Given the description of an element on the screen output the (x, y) to click on. 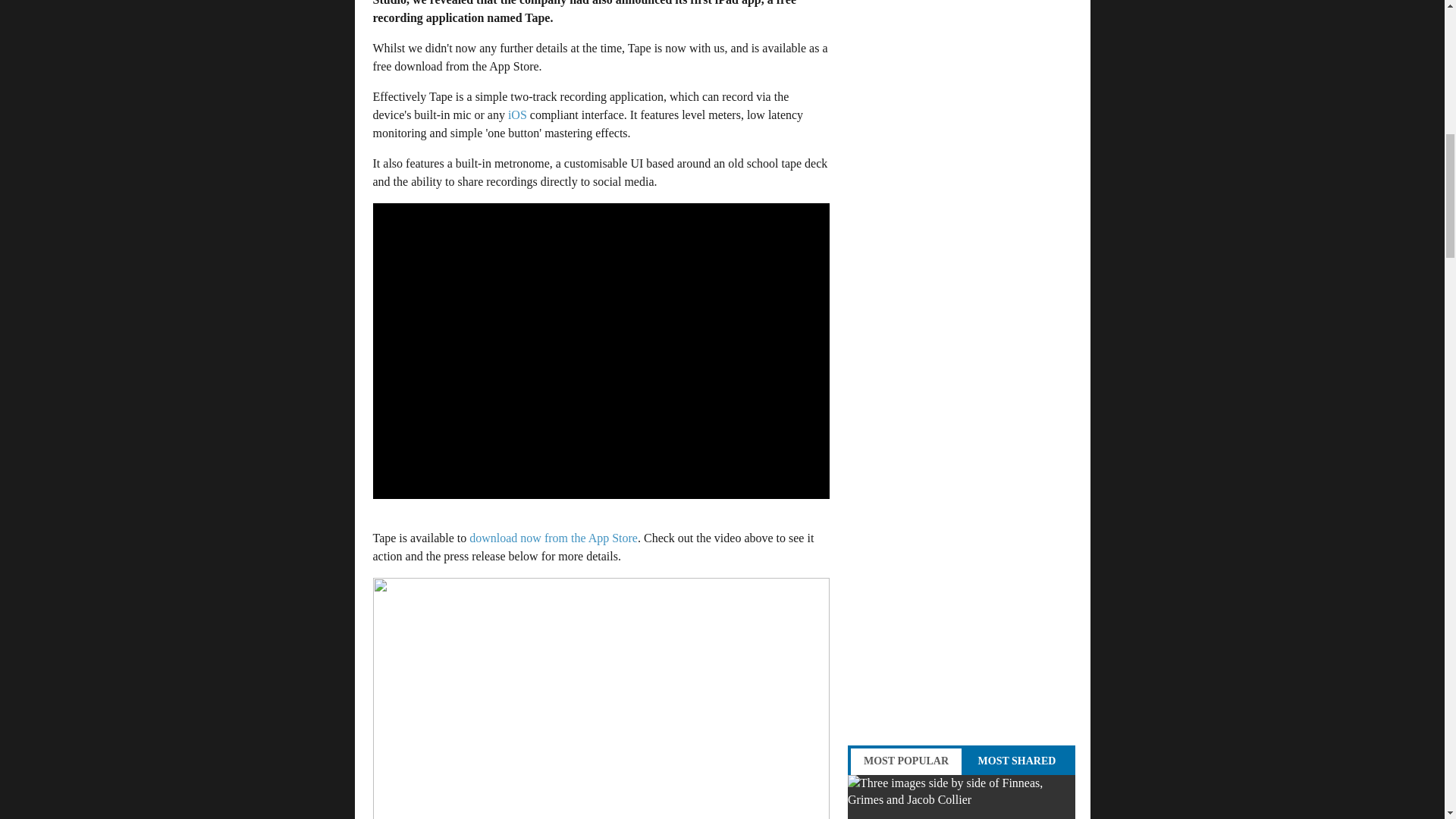
Which audio interfaces do the pros use? (961, 796)
